Given the description of an element on the screen output the (x, y) to click on. 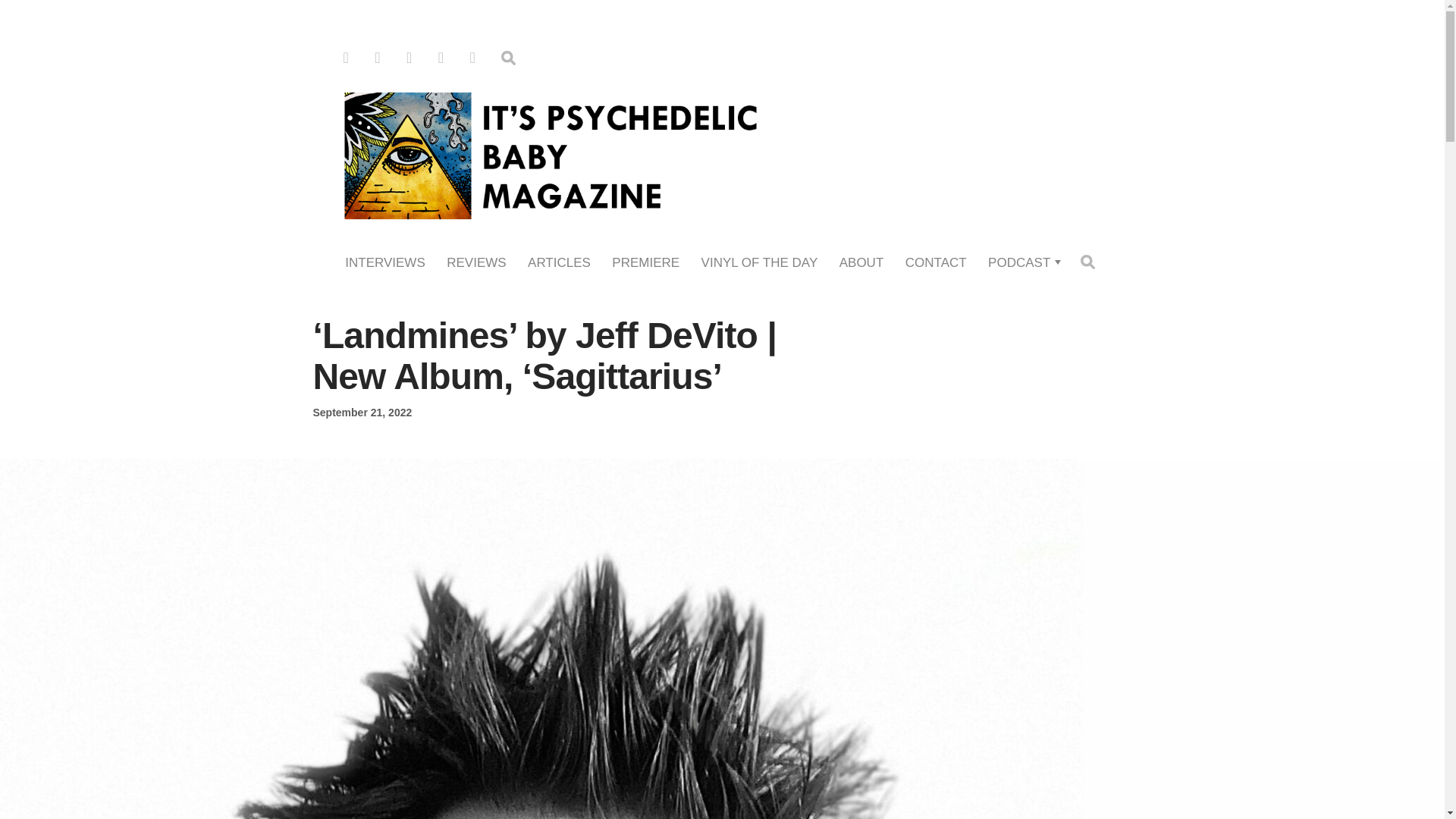
VINYL OF THE DAY (759, 262)
INTERVIEWS (385, 262)
ABOUT (861, 262)
PODCAST (1018, 262)
CONTACT (935, 262)
REVIEWS (475, 262)
ARTICLES (559, 262)
It's Psychedelic Baby Magazine (722, 153)
PREMIERE (645, 262)
